Given the description of an element on the screen output the (x, y) to click on. 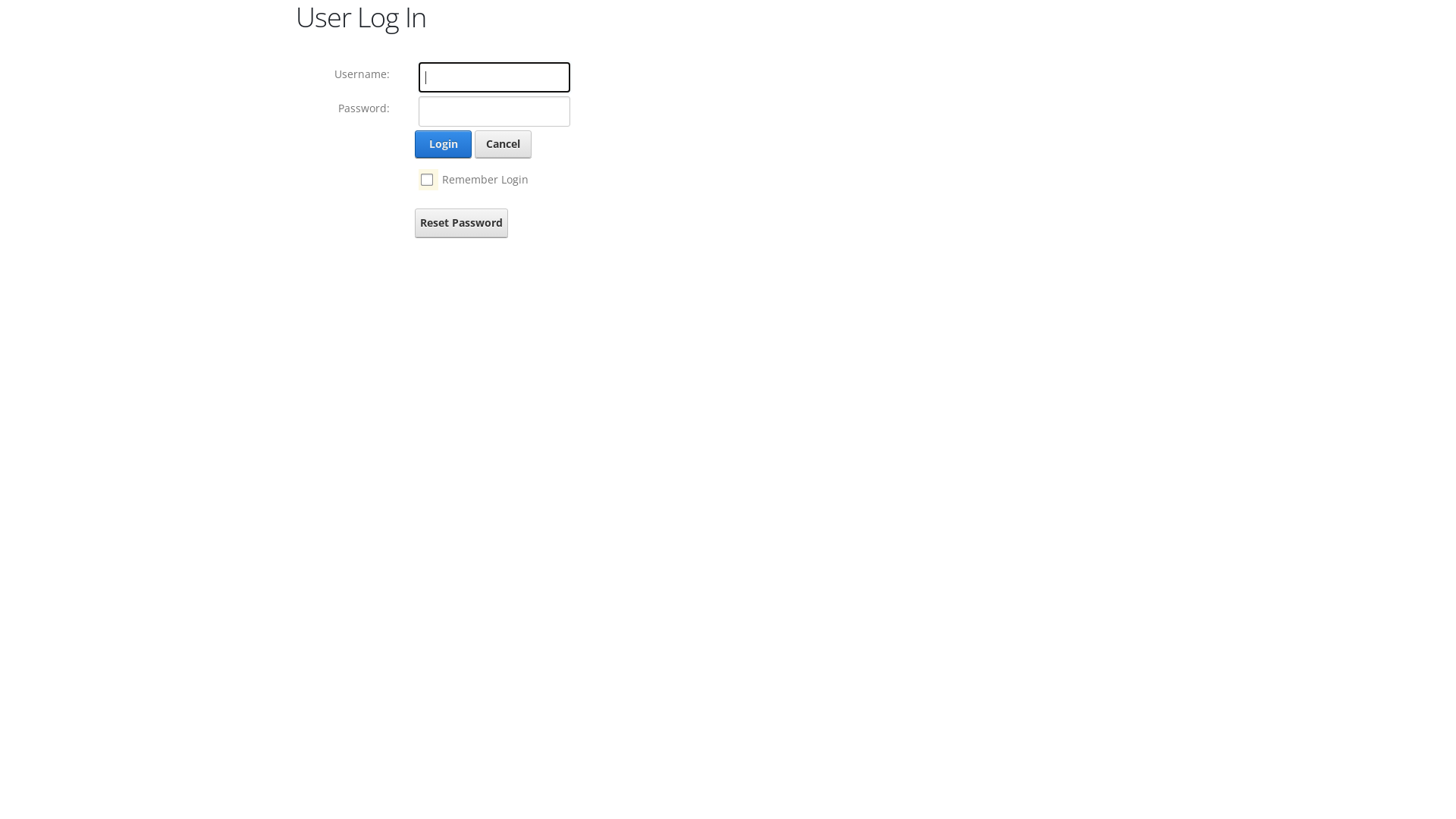
Login Element type: text (442, 143)
Cancel Element type: text (502, 143)
Reset Password Element type: text (461, 222)
